Given the description of an element on the screen output the (x, y) to click on. 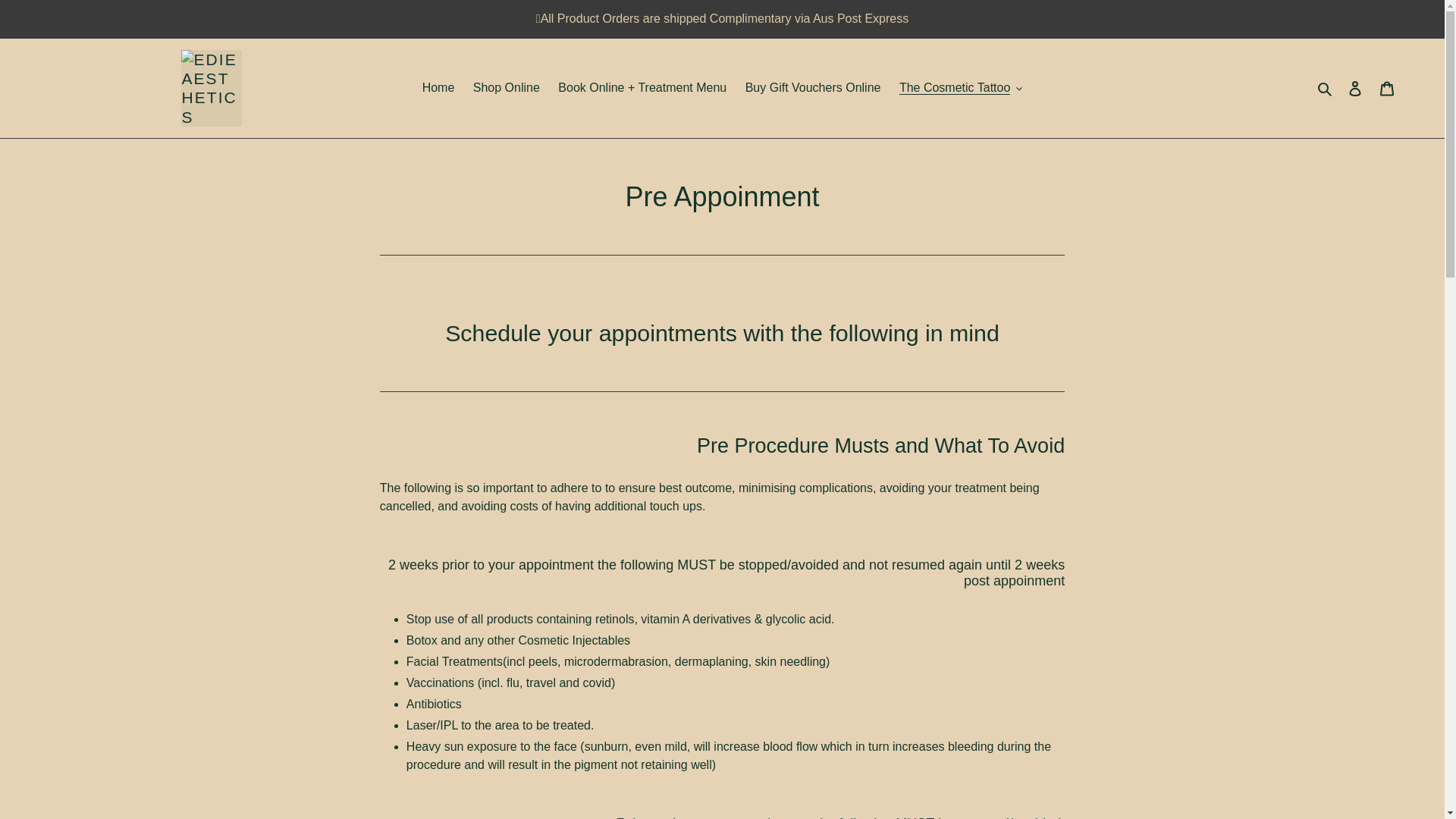
Search (1326, 87)
Shop Online (506, 87)
The Cosmetic Tattoo (960, 87)
Home (438, 87)
Cart (1387, 87)
Log in (1355, 87)
Buy Gift Vouchers Online (813, 87)
